Given the description of an element on the screen output the (x, y) to click on. 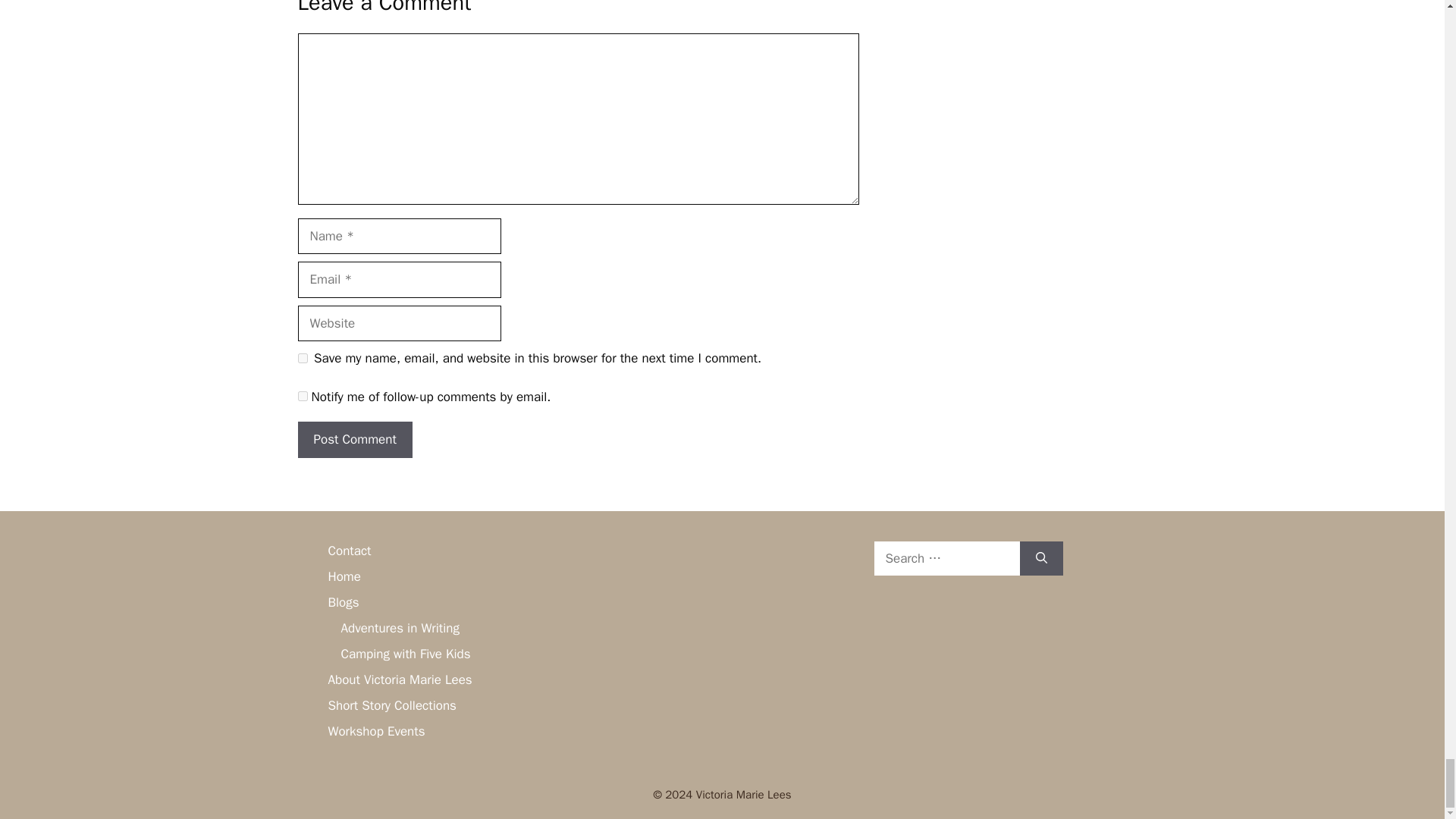
subscribe (302, 396)
yes (302, 357)
Post Comment (354, 439)
Search for: (946, 557)
